Given the description of an element on the screen output the (x, y) to click on. 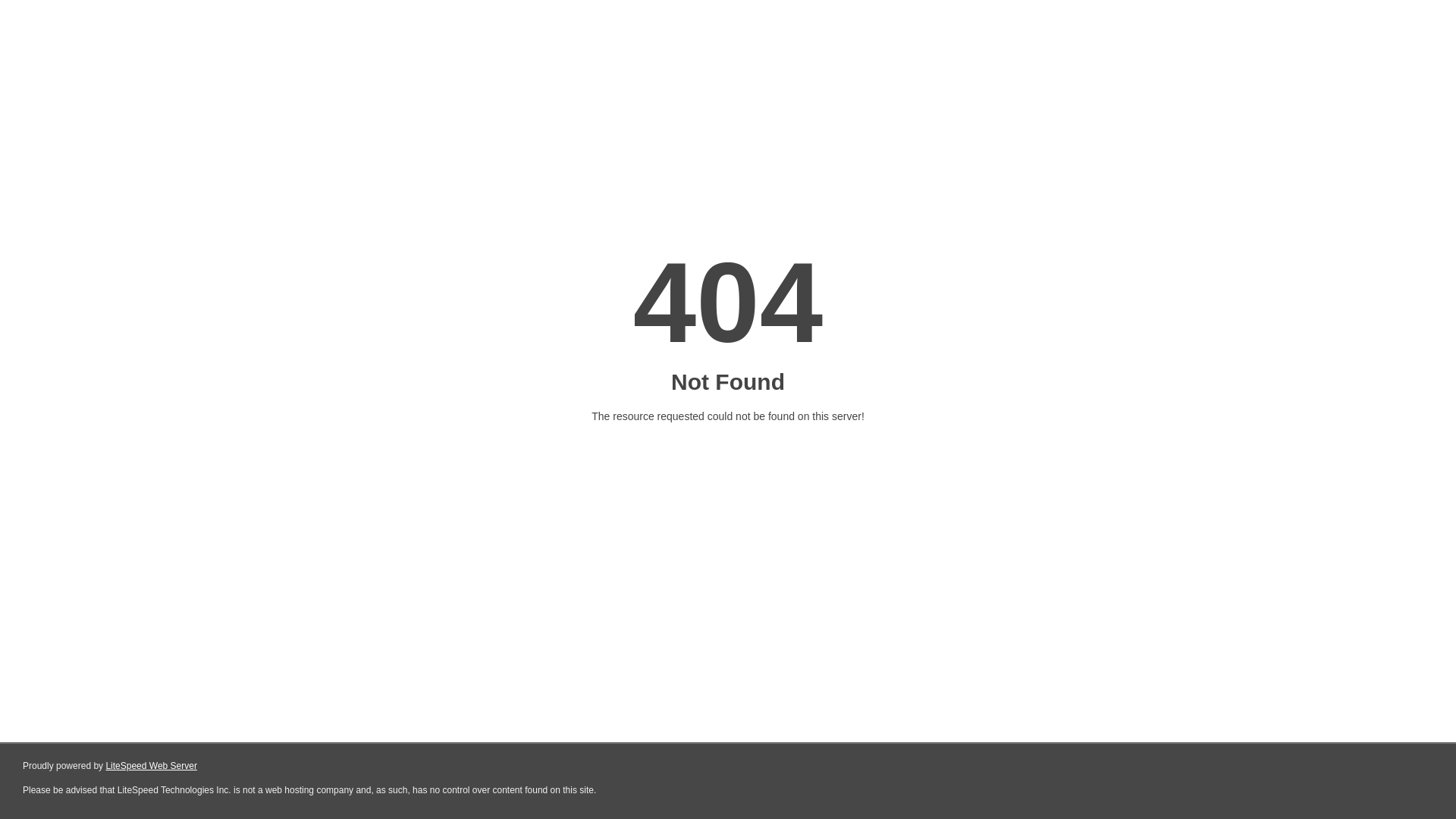
LiteSpeed Web Server Element type: text (151, 765)
